Given the description of an element on the screen output the (x, y) to click on. 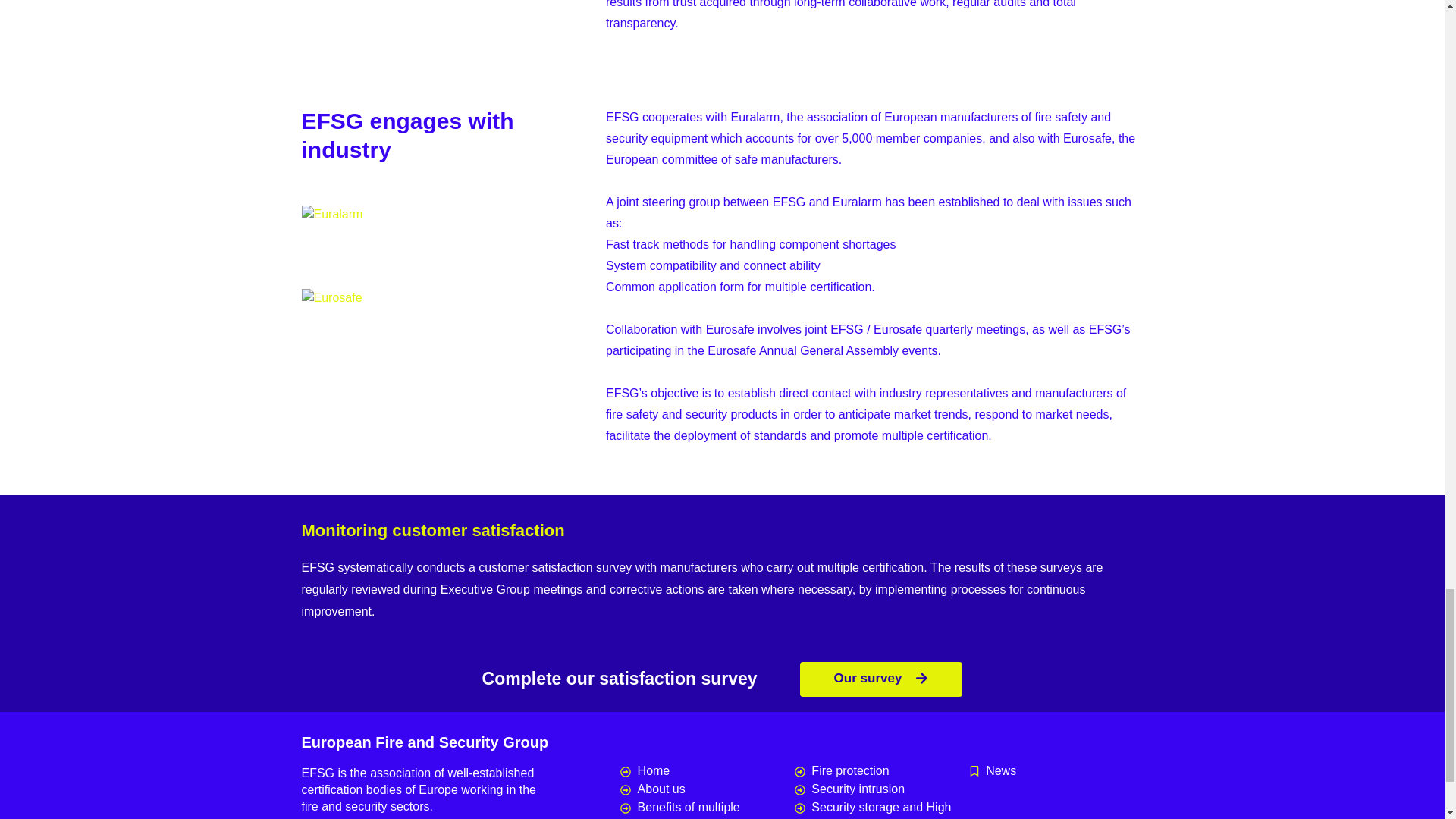
Benefits of multiple certification (707, 808)
Security storage and High security locks (881, 808)
Our survey (880, 678)
News (1055, 771)
Security intrusion (881, 789)
Home (707, 771)
Fire protection (881, 771)
About us (707, 789)
